Given the description of an element on the screen output the (x, y) to click on. 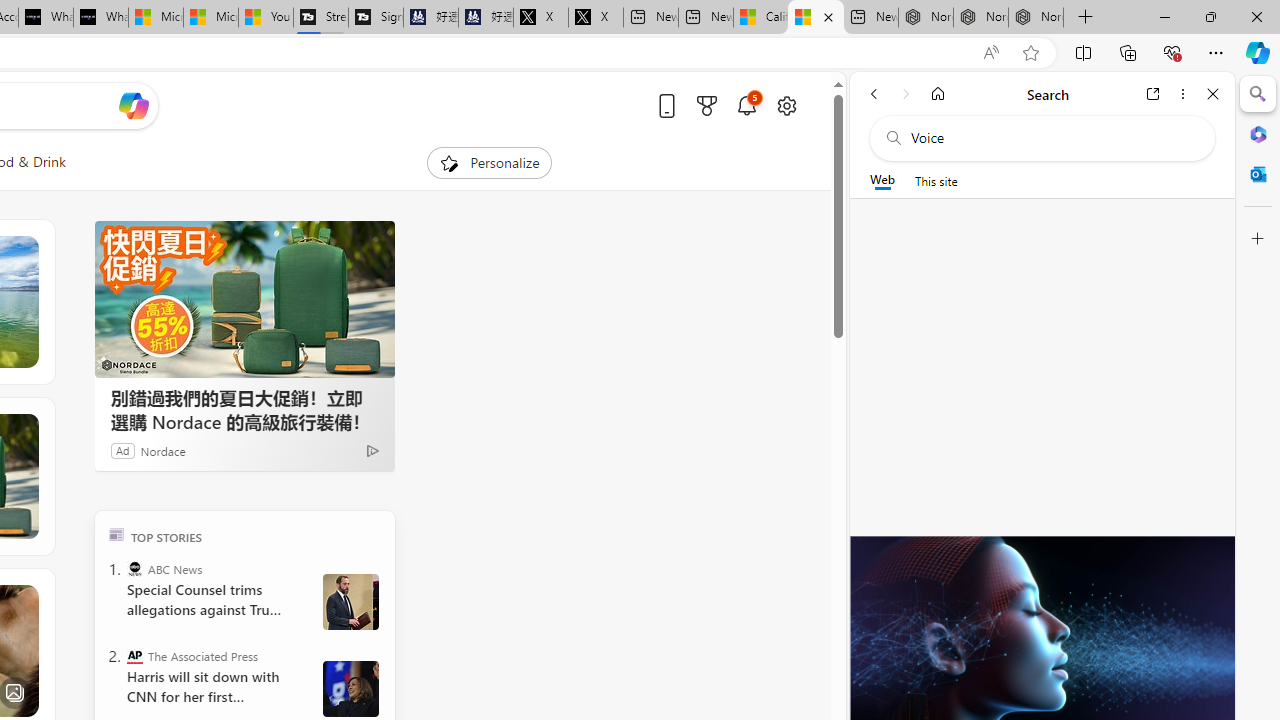
Web scope (882, 180)
Nordace Siena Pro 15 Backpack (980, 17)
Open settings (786, 105)
